Given the description of an element on the screen output the (x, y) to click on. 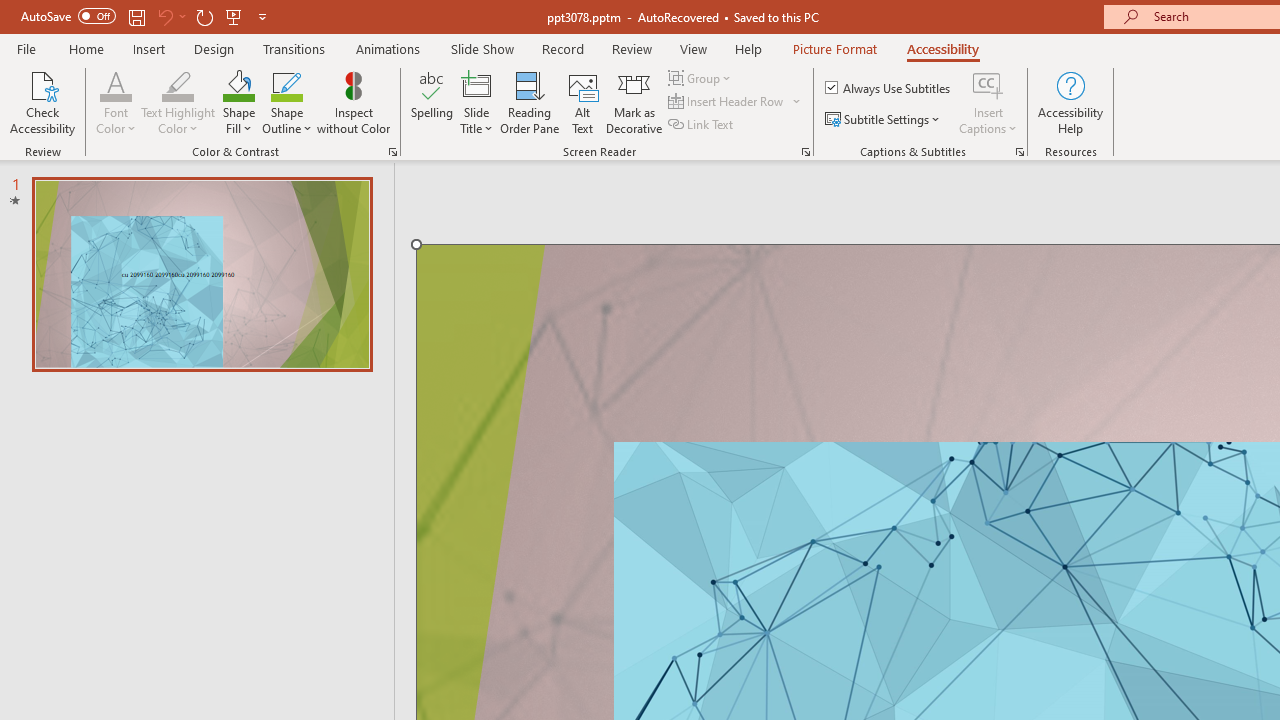
Slide Title (476, 102)
Always Use Subtitles (889, 87)
Mark as Decorative (634, 102)
Color & Contrast (392, 151)
Group (701, 78)
Alt Text (582, 102)
Insert Captions (988, 84)
Slide Title (476, 84)
Picture Format (834, 48)
